Given the description of an element on the screen output the (x, y) to click on. 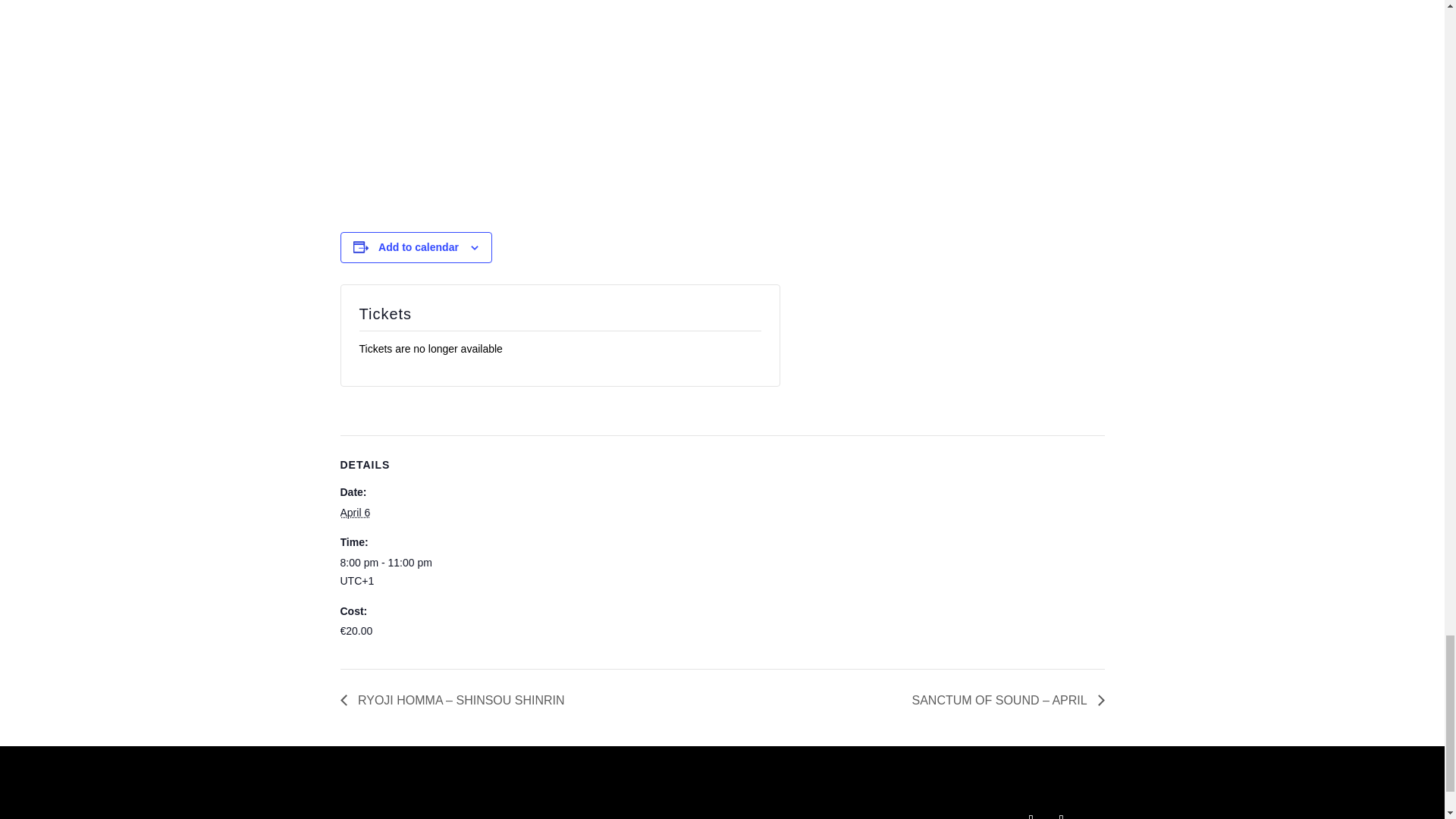
Follow on Instagram (1061, 813)
Follow on Facebook (1031, 813)
Add to calendar (418, 246)
2024-04-06 (403, 572)
2024-04-06 (354, 512)
